Given the description of an element on the screen output the (x, y) to click on. 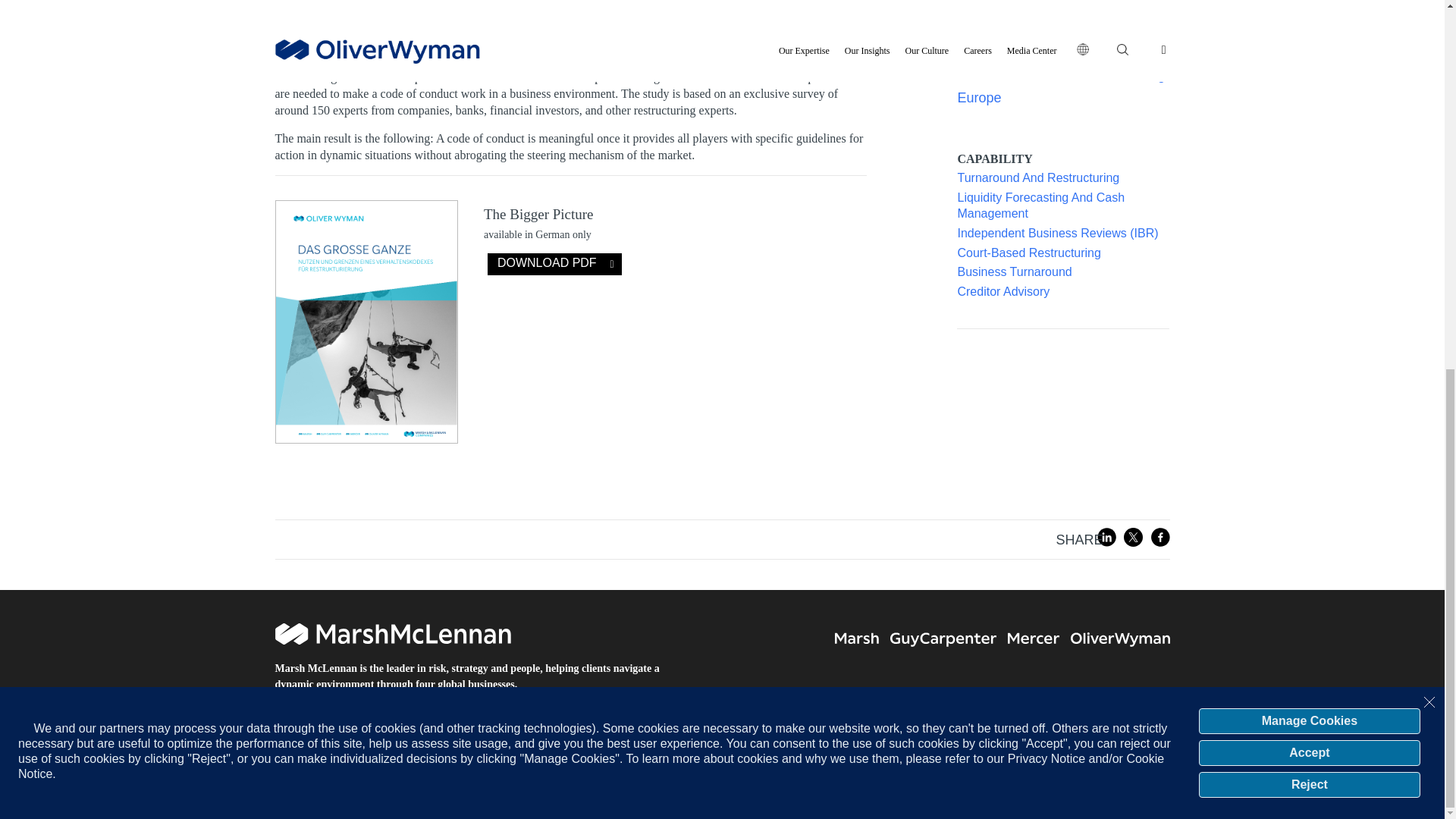
Reject (1309, 116)
Accept (1309, 84)
Manage Cookies (1309, 53)
